Given the description of an element on the screen output the (x, y) to click on. 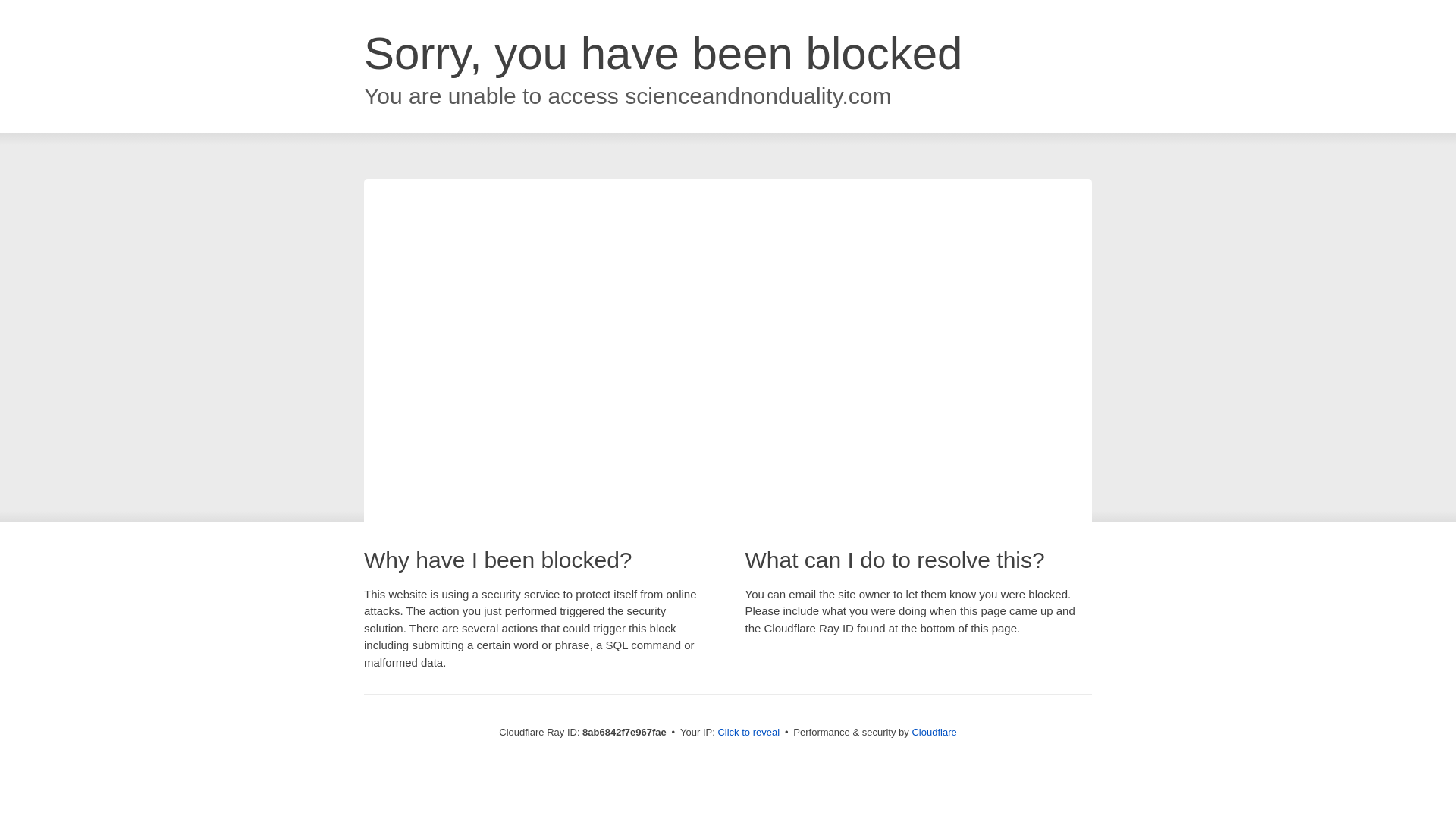
Click to reveal (747, 732)
Cloudflare (933, 731)
